Given the description of an element on the screen output the (x, y) to click on. 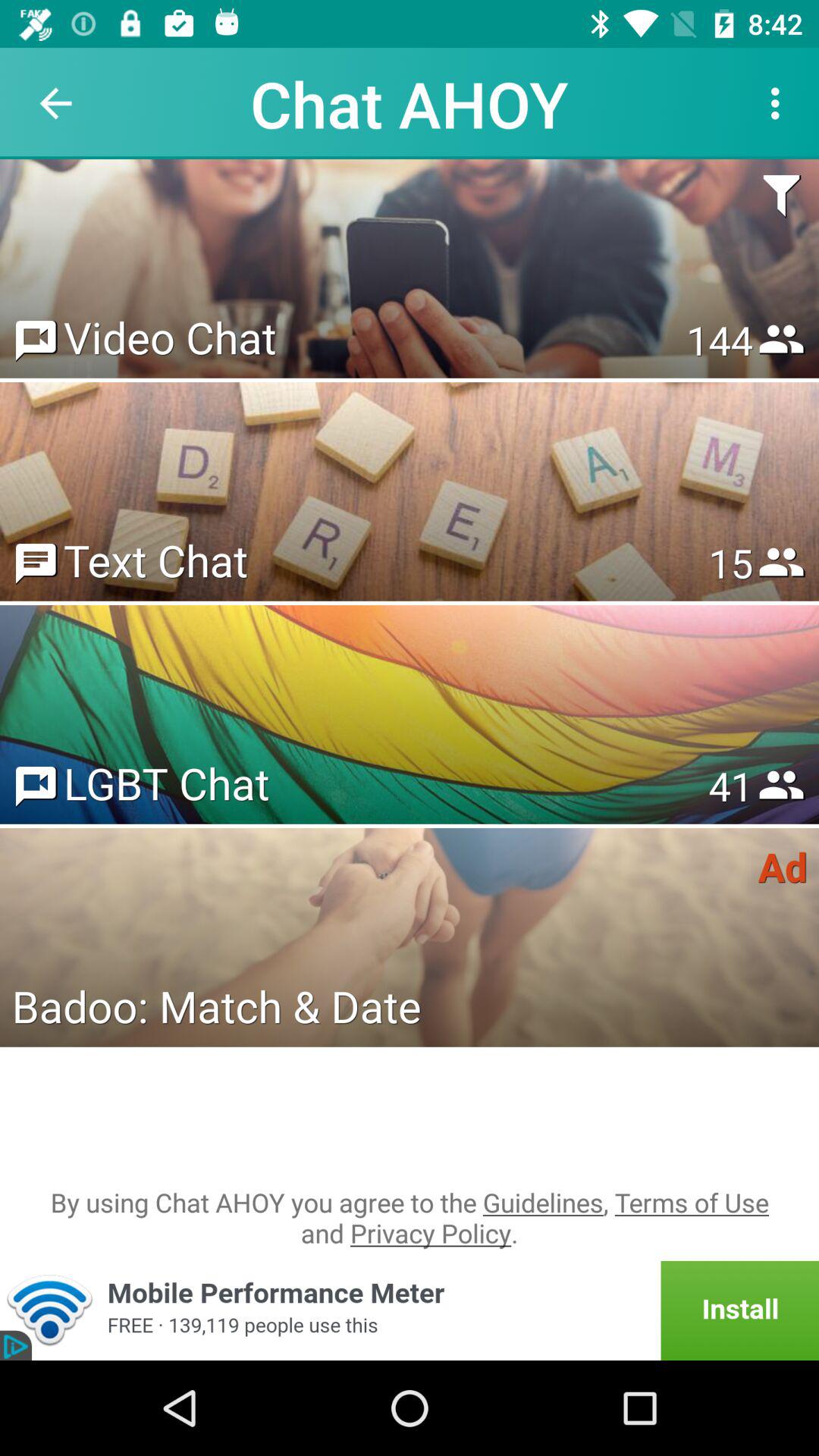
select the item below by using chat (409, 1310)
